Given the description of an element on the screen output the (x, y) to click on. 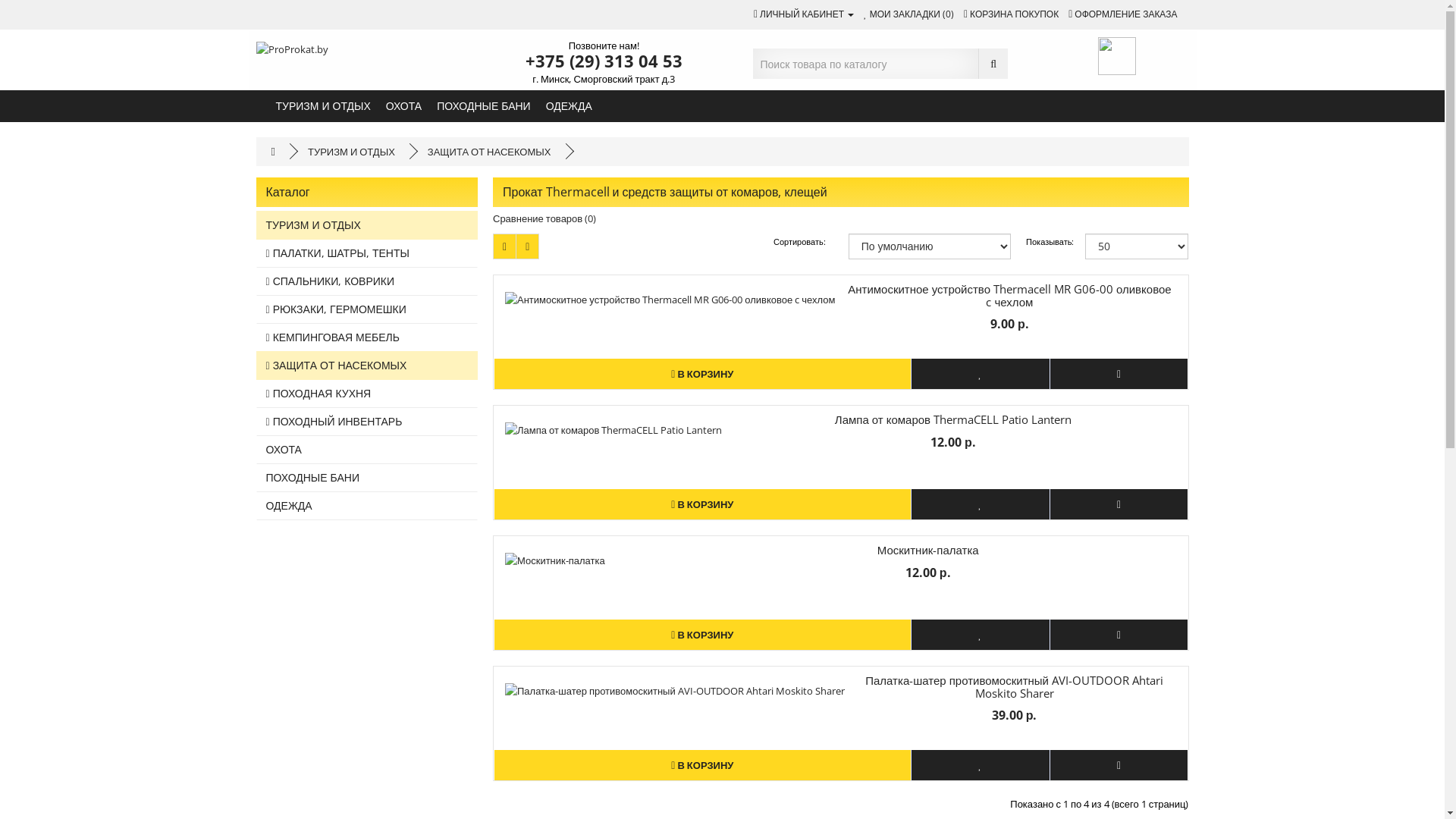
ProProkat.by Element type: hover (292, 48)
+375 (29) 313 04 53 Element type: text (603, 60)
